Given the description of an element on the screen output the (x, y) to click on. 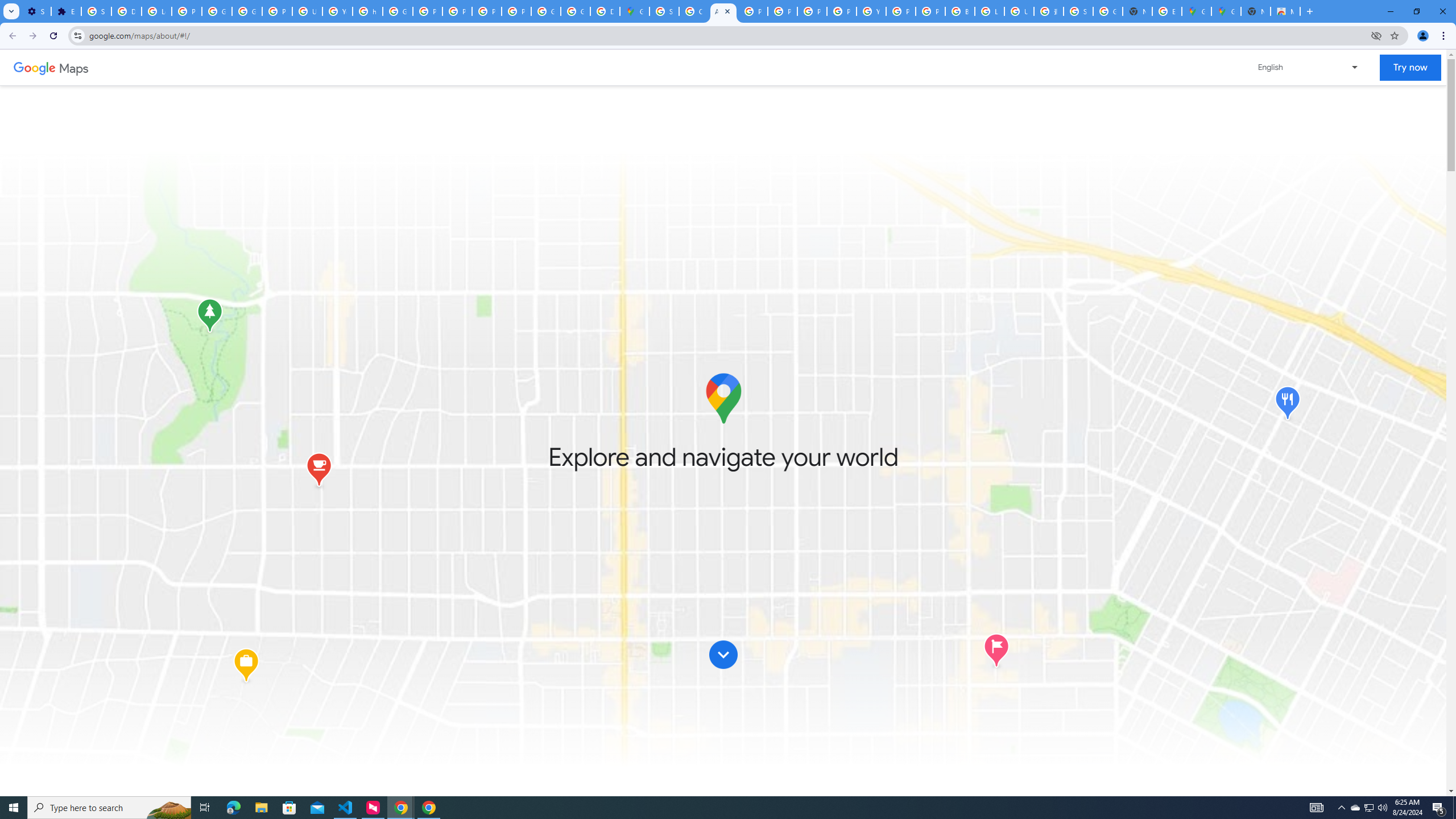
https://scholar.google.com/ (367, 11)
Skip to Content (723, 660)
Create your Google Account (693, 11)
Learn how to find your photos - Google Photos Help (156, 11)
Settings - On startup (36, 11)
Browse Chrome as a guest - Computer - Google Chrome Help (959, 11)
YouTube (871, 11)
Google Account Help (216, 11)
